Given the description of an element on the screen output the (x, y) to click on. 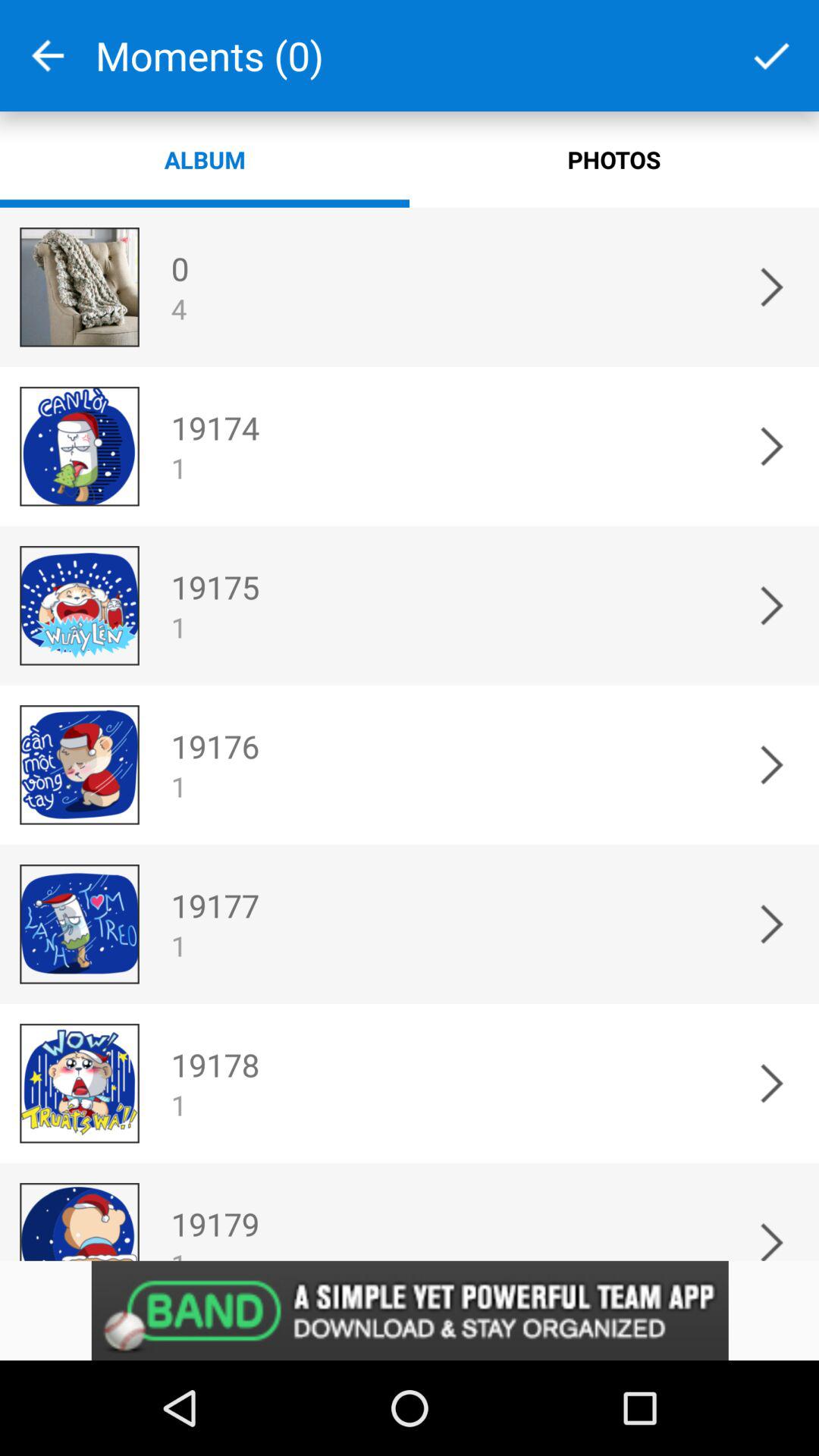
go back (47, 55)
